Given the description of an element on the screen output the (x, y) to click on. 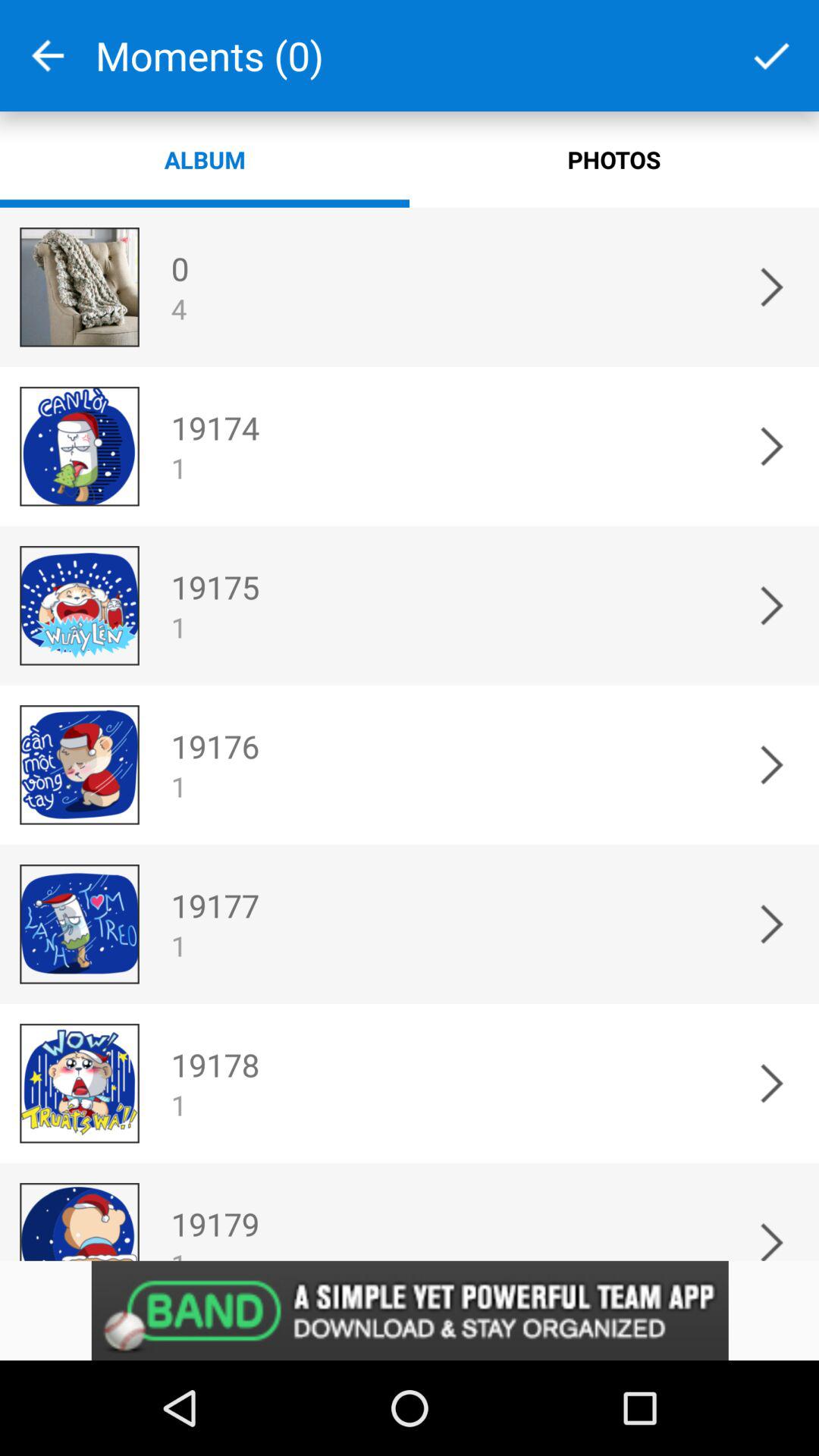
go back (47, 55)
